Given the description of an element on the screen output the (x, y) to click on. 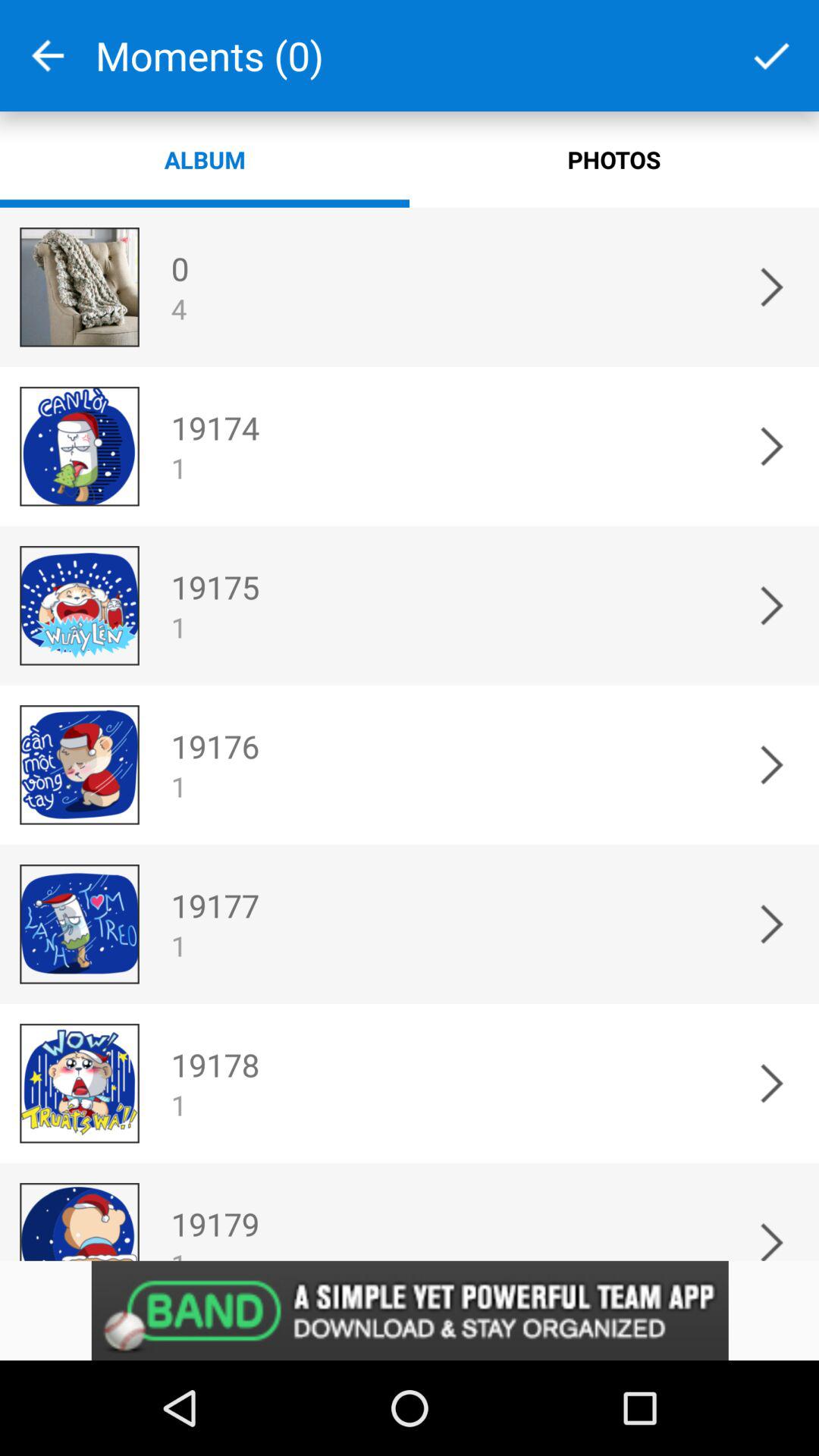
go back (47, 55)
